Given the description of an element on the screen output the (x, y) to click on. 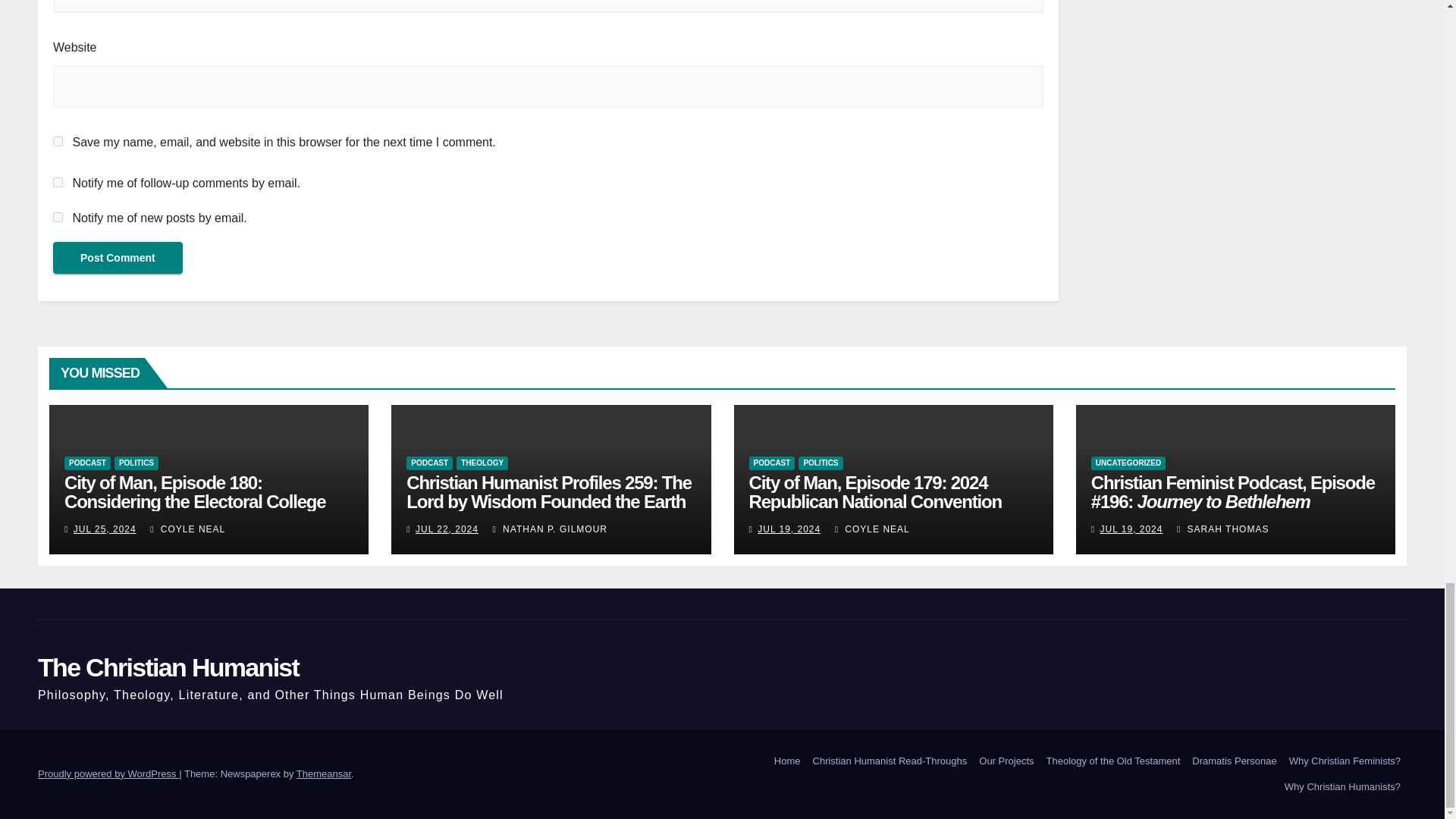
subscribe (57, 216)
yes (57, 141)
Post Comment (117, 257)
subscribe (57, 182)
